Given the description of an element on the screen output the (x, y) to click on. 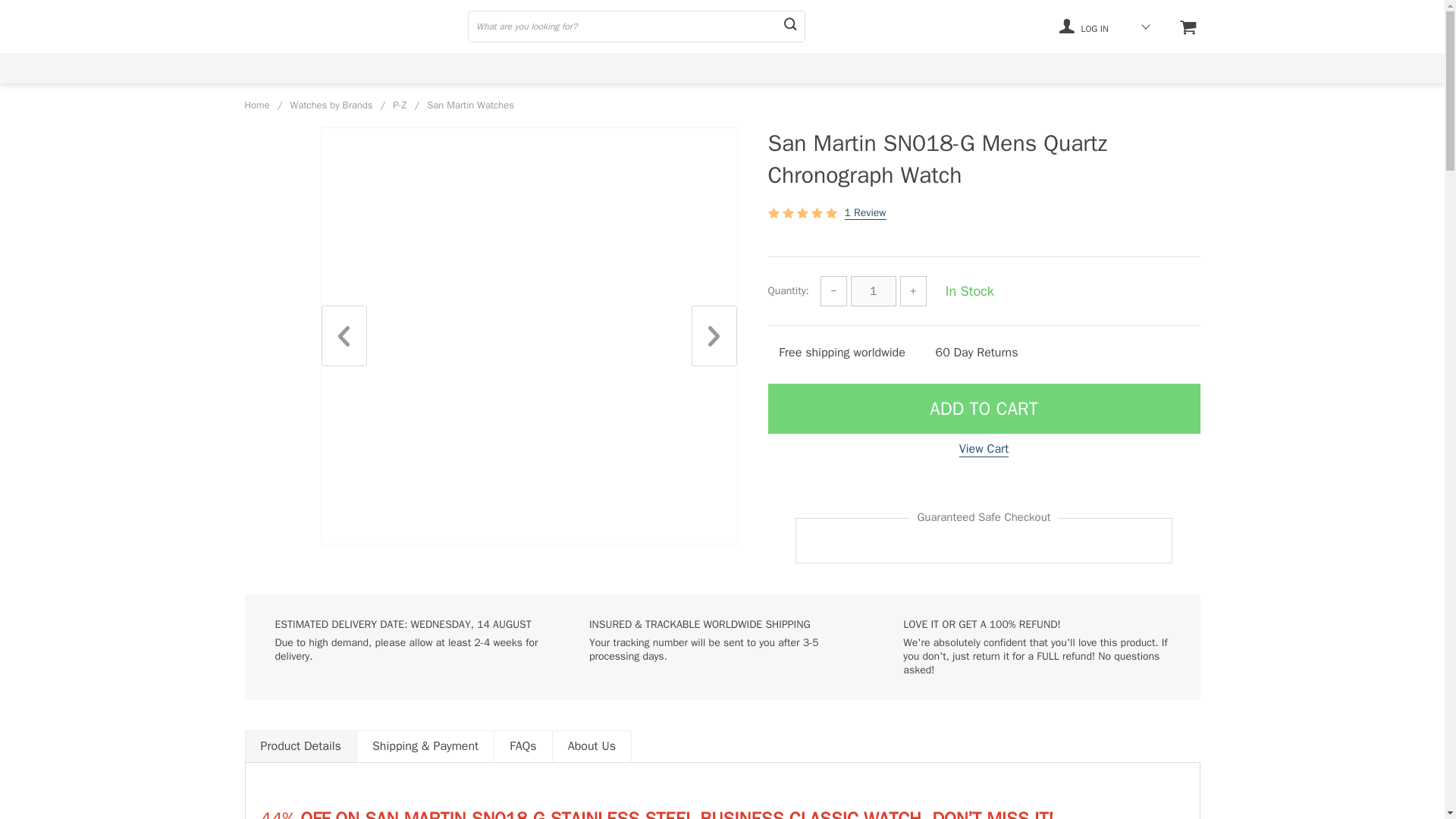
1 (873, 291)
LOG IN (1083, 25)
